Given the description of an element on the screen output the (x, y) to click on. 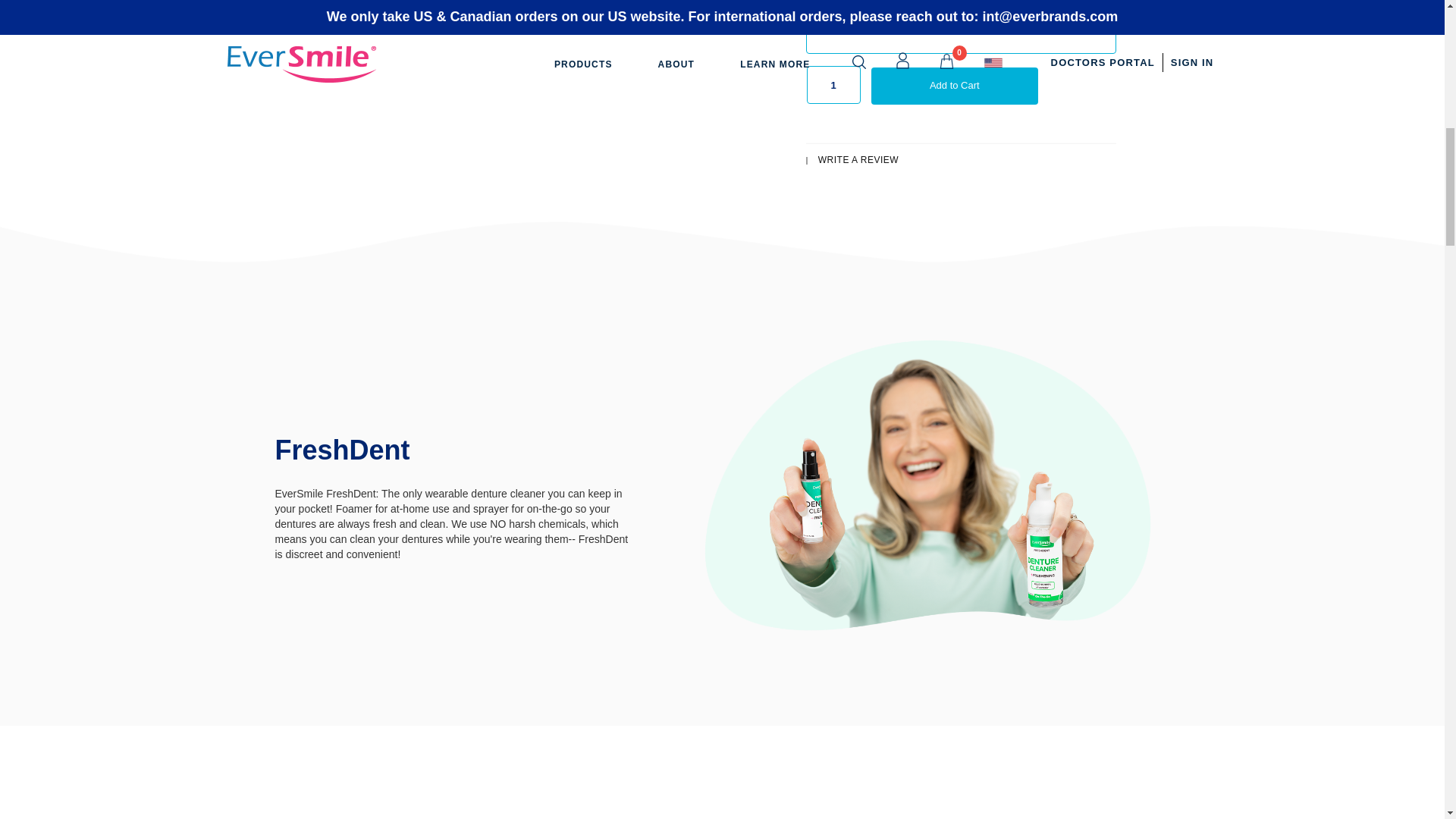
1 (833, 85)
